Given the description of an element on the screen output the (x, y) to click on. 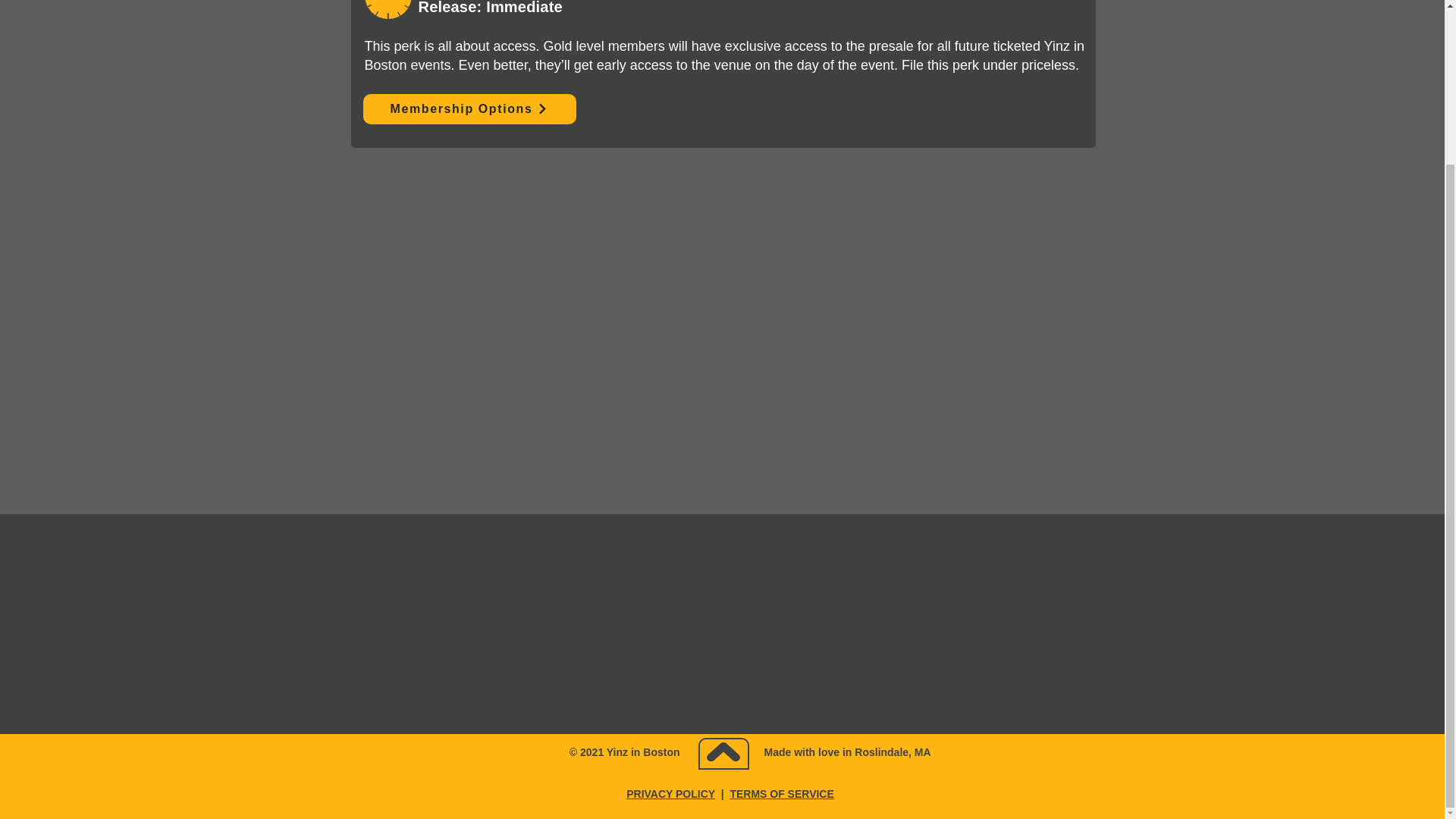
PRIVACY POLICY (670, 793)
Made with love in Roslindale, MA (847, 752)
TERMS OF SERVICE (780, 793)
Membership Options (468, 109)
